Given the description of an element on the screen output the (x, y) to click on. 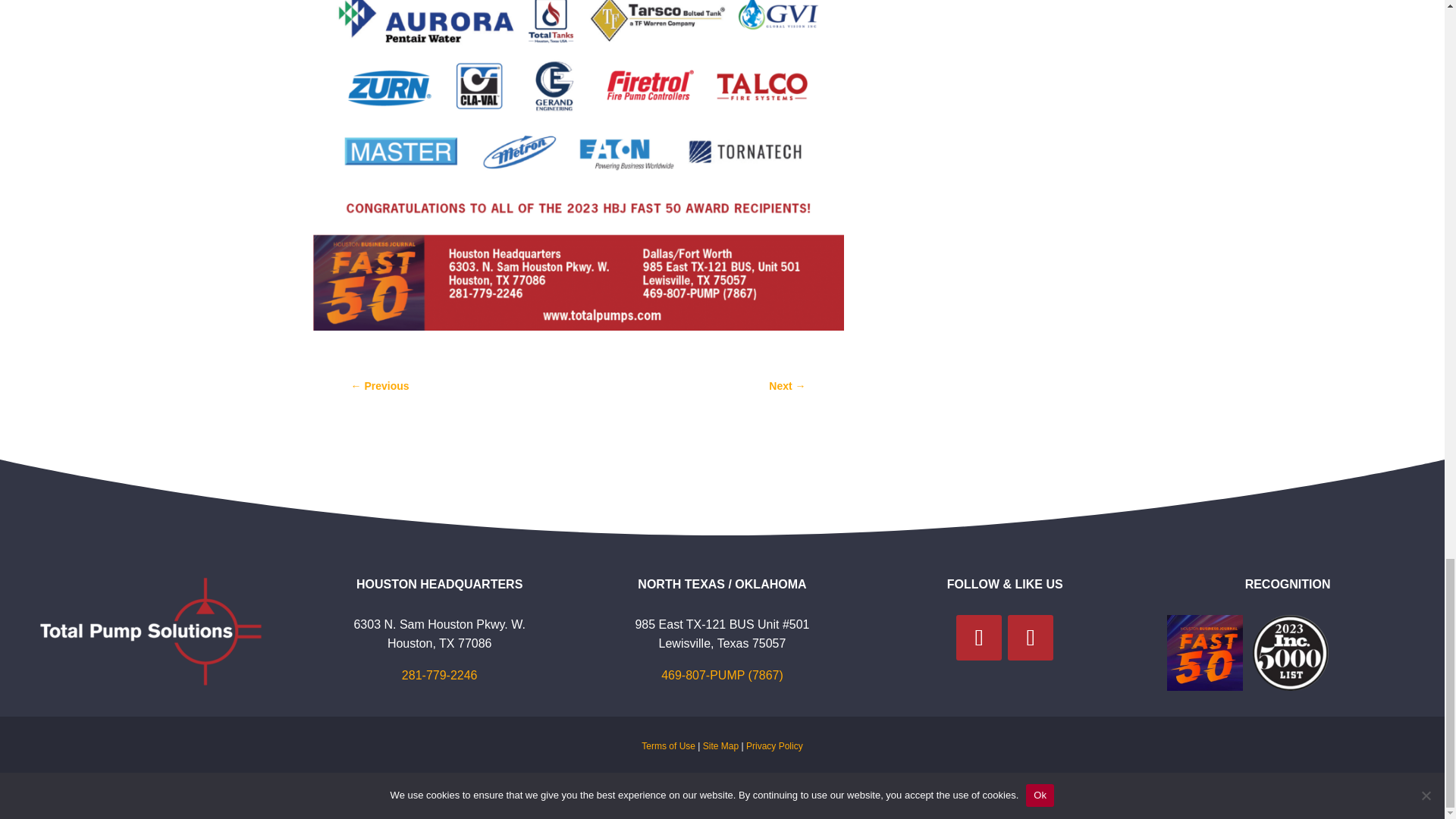
Link to Creative Web Solutions website, opens in new window (873, 787)
Follow on LinkedIn (1029, 637)
Total Pump Solutions link to home page (581, 787)
Follow on Facebook (978, 637)
